Given the description of an element on the screen output the (x, y) to click on. 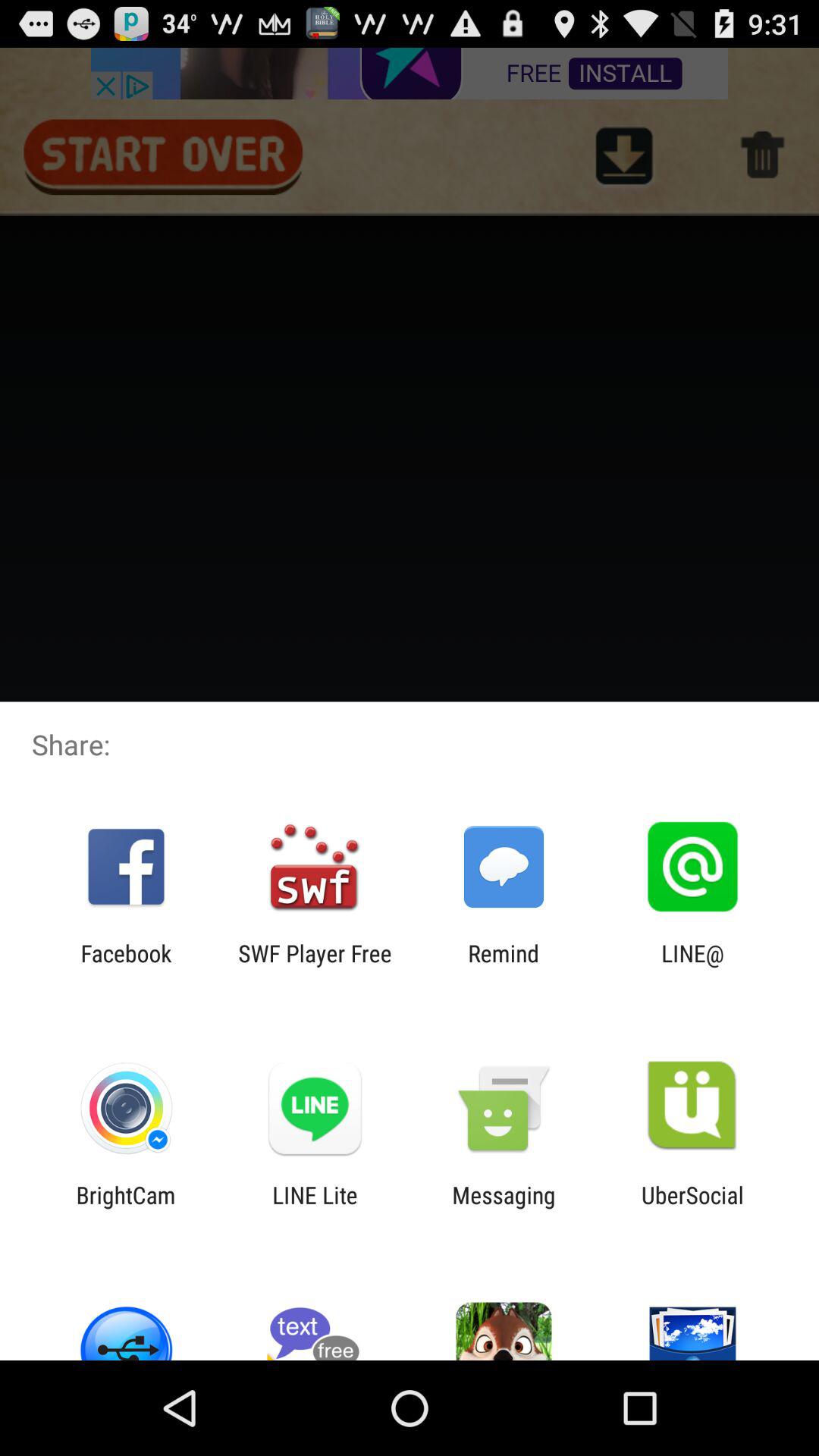
press app to the left of the swf player free (125, 966)
